Given the description of an element on the screen output the (x, y) to click on. 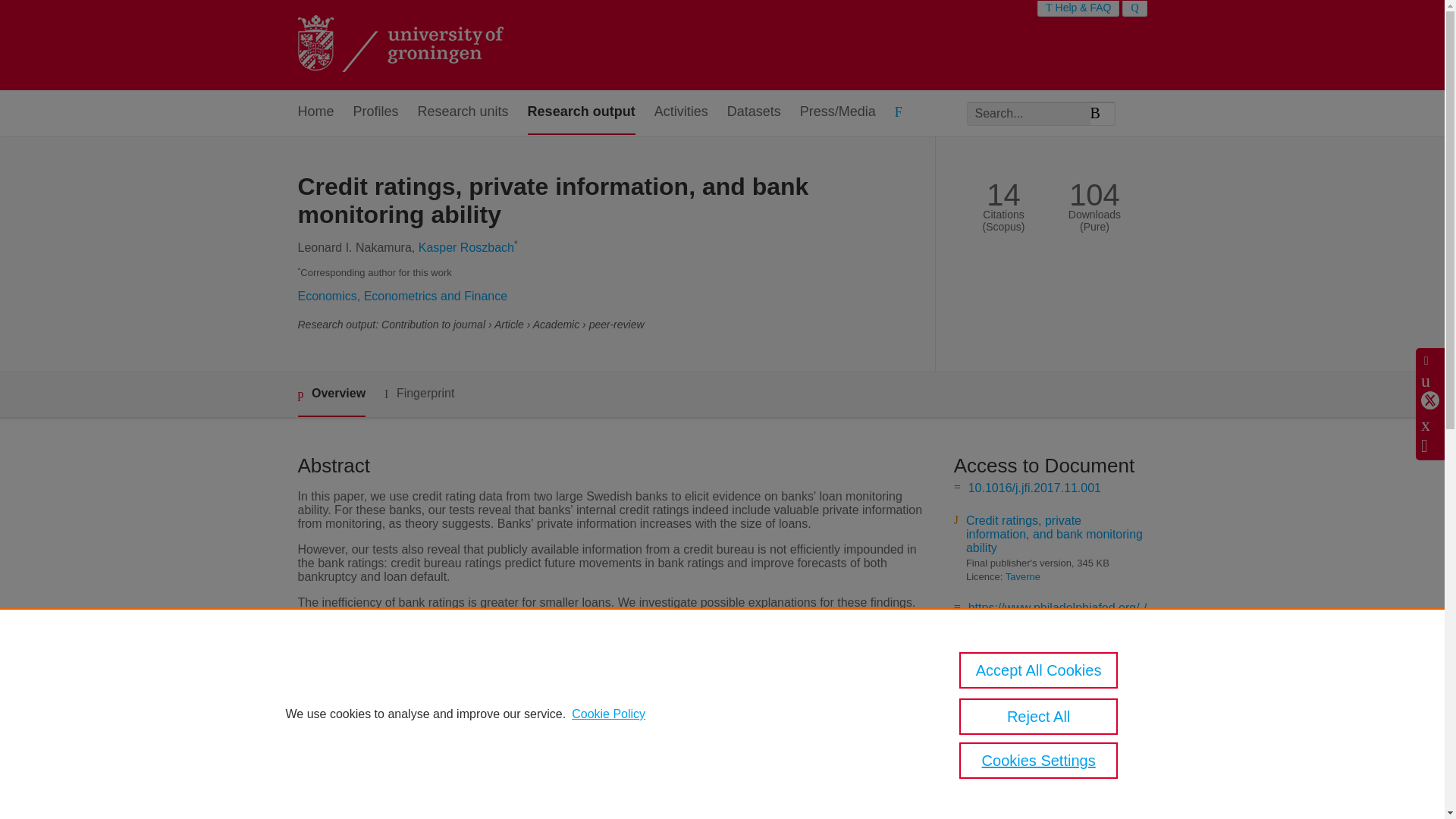
Datasets (753, 112)
Research output (580, 112)
Overview (331, 394)
the University of Groningen research portal Home (399, 45)
Taverne (1023, 576)
Activities (680, 112)
Fingerprint (419, 393)
Kasper Roszbach (466, 246)
Profiles (375, 112)
